Given the description of an element on the screen output the (x, y) to click on. 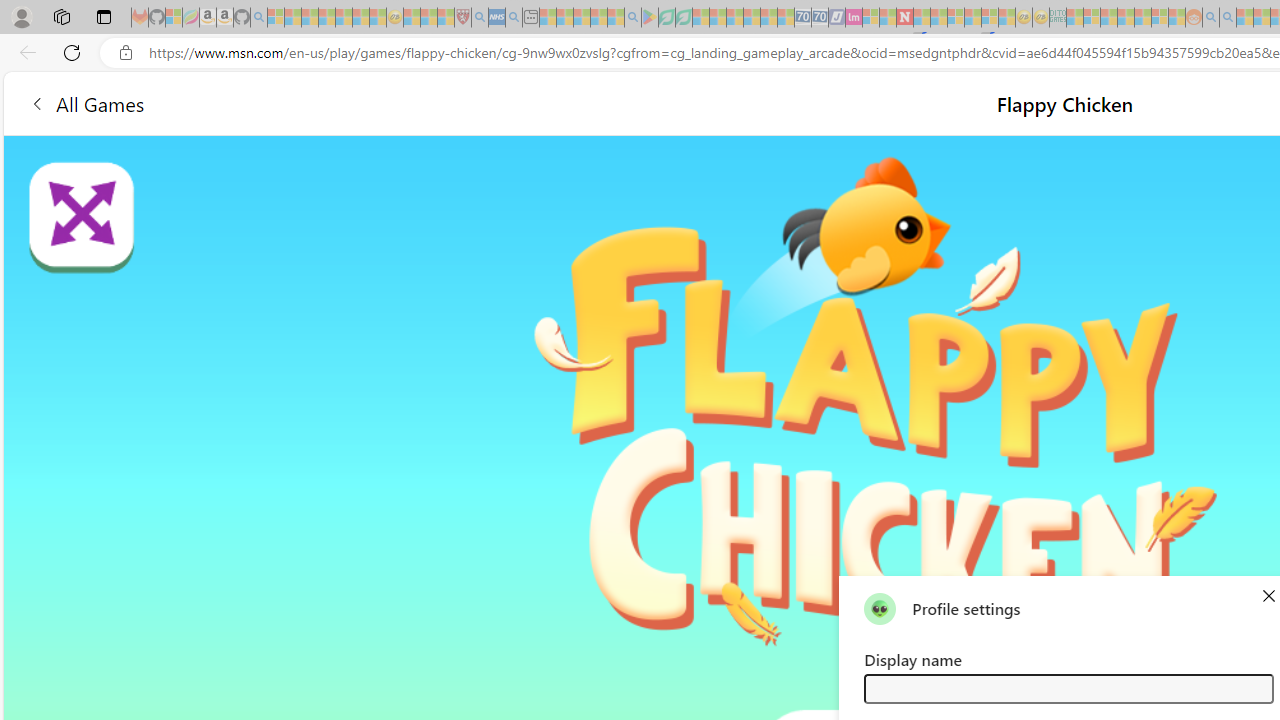
""'s avatar (880, 608)
